Given the description of an element on the screen output the (x, y) to click on. 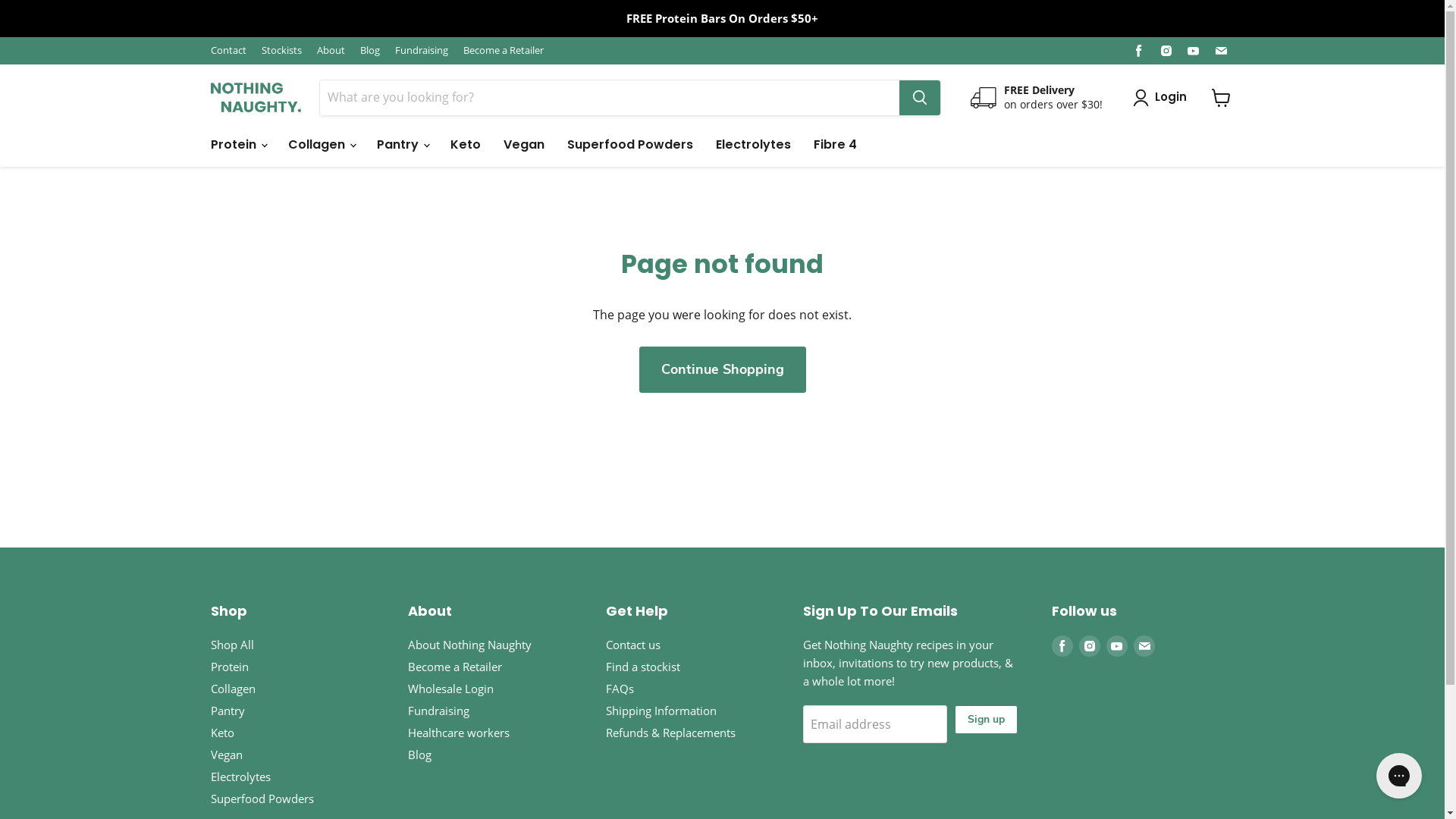
Keto Element type: text (222, 732)
Pantry Element type: text (227, 710)
Gorgias live chat messenger Element type: hover (1398, 775)
Keto Element type: text (464, 144)
Find us on Instagram Element type: text (1165, 49)
Vegan Element type: text (523, 144)
Refunds & Replacements Element type: text (669, 732)
Find us on Facebook Element type: text (1138, 49)
Collagen Element type: text (232, 688)
Fibre 4 Element type: text (835, 144)
Fundraising Element type: text (438, 710)
Login Element type: text (1170, 96)
Contact us Element type: text (632, 644)
Electrolytes Element type: text (240, 776)
Find us on Facebook Element type: text (1062, 645)
Become a Retailer Element type: text (454, 666)
Find a stockist Element type: text (642, 666)
Blog Element type: text (419, 754)
Stockists Element type: text (280, 50)
Find us on Email Element type: text (1143, 645)
Protein Element type: text (229, 666)
Become a Retailer Element type: text (502, 50)
Superfood Powders Element type: text (629, 144)
About Element type: text (330, 50)
Continue Shopping Element type: text (721, 369)
FAQs Element type: text (619, 688)
View cart Element type: text (1221, 96)
Find us on Youtube Element type: text (1193, 49)
Shop All Element type: text (232, 644)
Find us on Youtube Element type: text (1116, 645)
About Nothing Naughty Element type: text (469, 644)
Shipping Information Element type: text (660, 710)
Sign up Element type: text (985, 719)
Contact Element type: text (228, 50)
Electrolytes Element type: text (752, 144)
Healthcare workers Element type: text (458, 732)
Find us on Email Element type: text (1220, 49)
Wholesale Login Element type: text (450, 688)
Superfood Powders Element type: text (261, 798)
Vegan Element type: text (226, 754)
Find us on Instagram Element type: text (1089, 645)
Blog Element type: text (369, 50)
Fundraising Element type: text (420, 50)
